Given the description of an element on the screen output the (x, y) to click on. 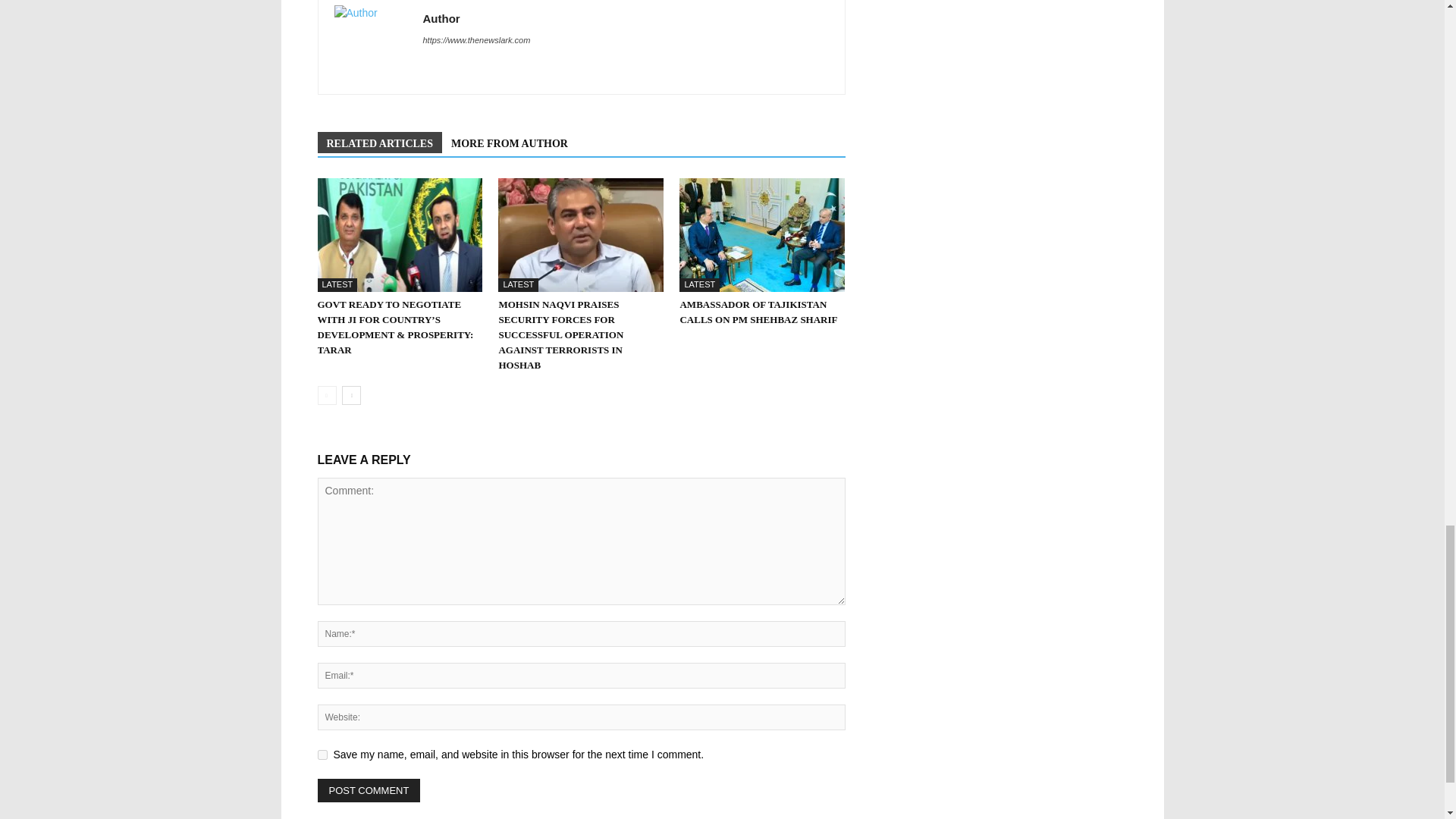
Post Comment (368, 790)
yes (321, 755)
